Given the description of an element on the screen output the (x, y) to click on. 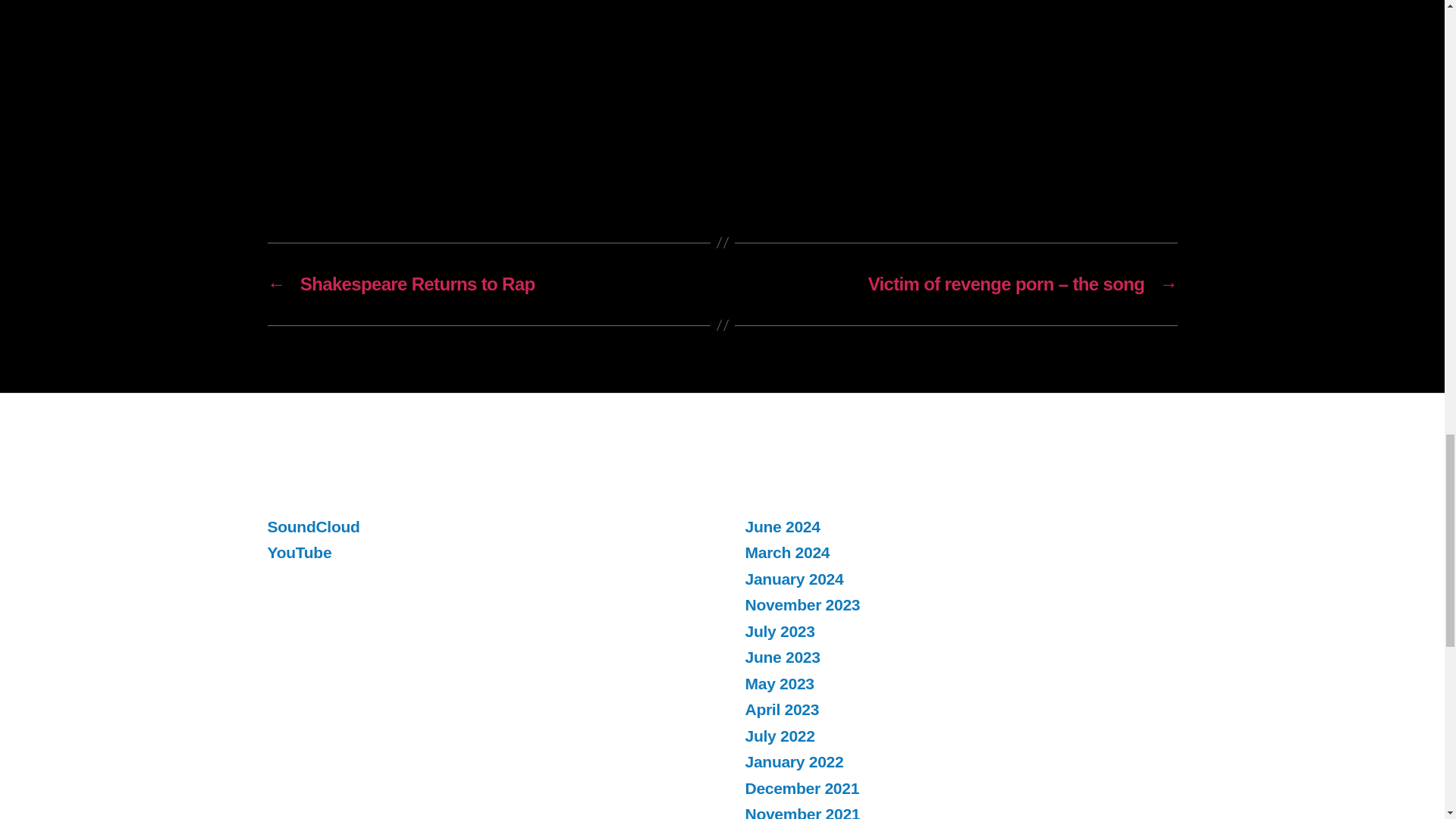
YouTube (298, 552)
January 2024 (793, 579)
March 2024 (786, 552)
June 2024 (781, 526)
SoundCloud (312, 526)
